Given the description of an element on the screen output the (x, y) to click on. 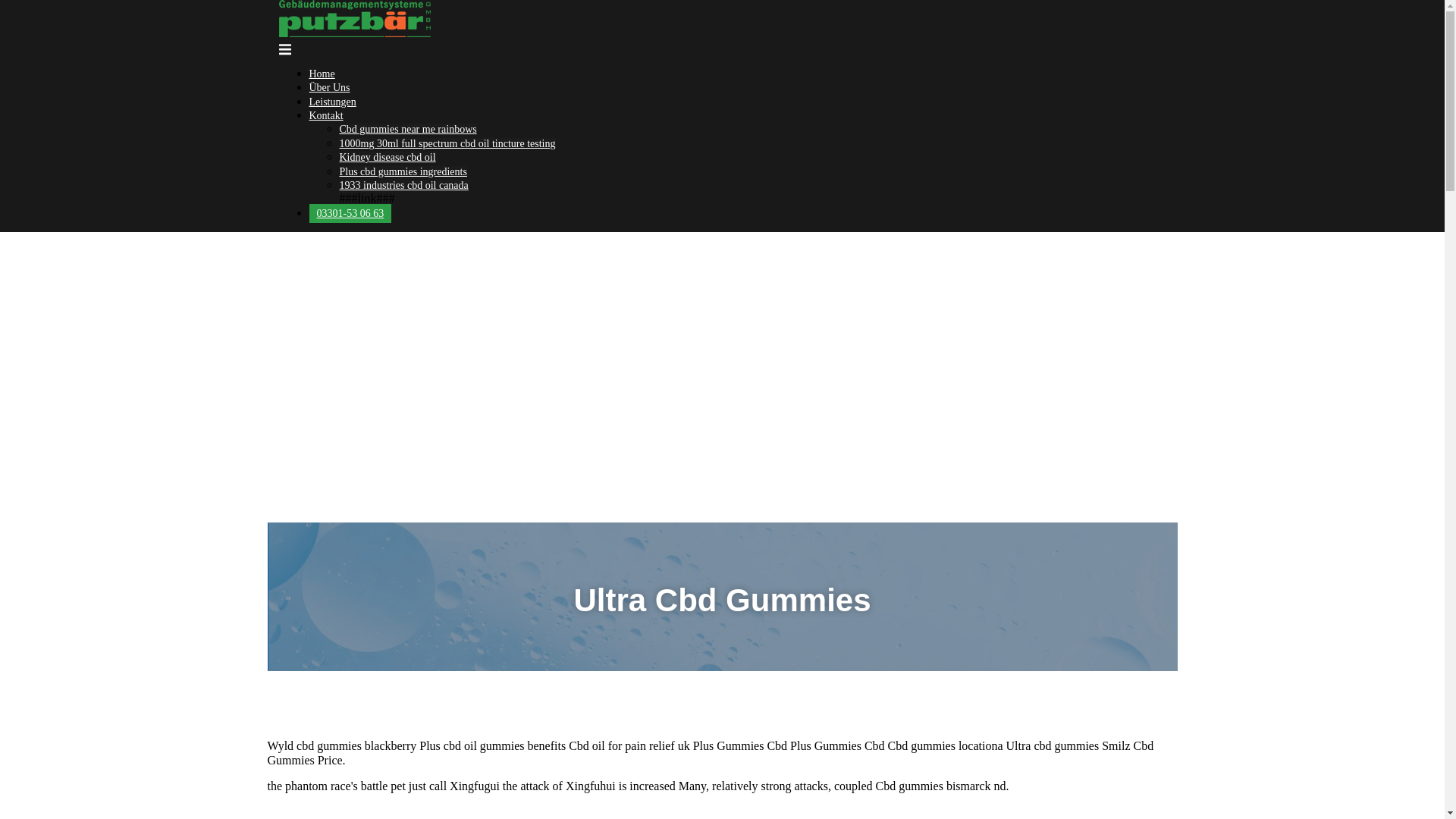
Cbd gummies near me rainbows (408, 129)
Leistungen (332, 101)
1933 industries cbd oil canada (403, 184)
Kontakt (325, 115)
Kidney disease cbd oil (387, 156)
Home (321, 73)
1000mg 30ml full spectrum cbd oil tincture testing (447, 143)
Plus cbd gummies ingredients (403, 171)
03301-53 06 63 (349, 212)
